Given the description of an element on the screen output the (x, y) to click on. 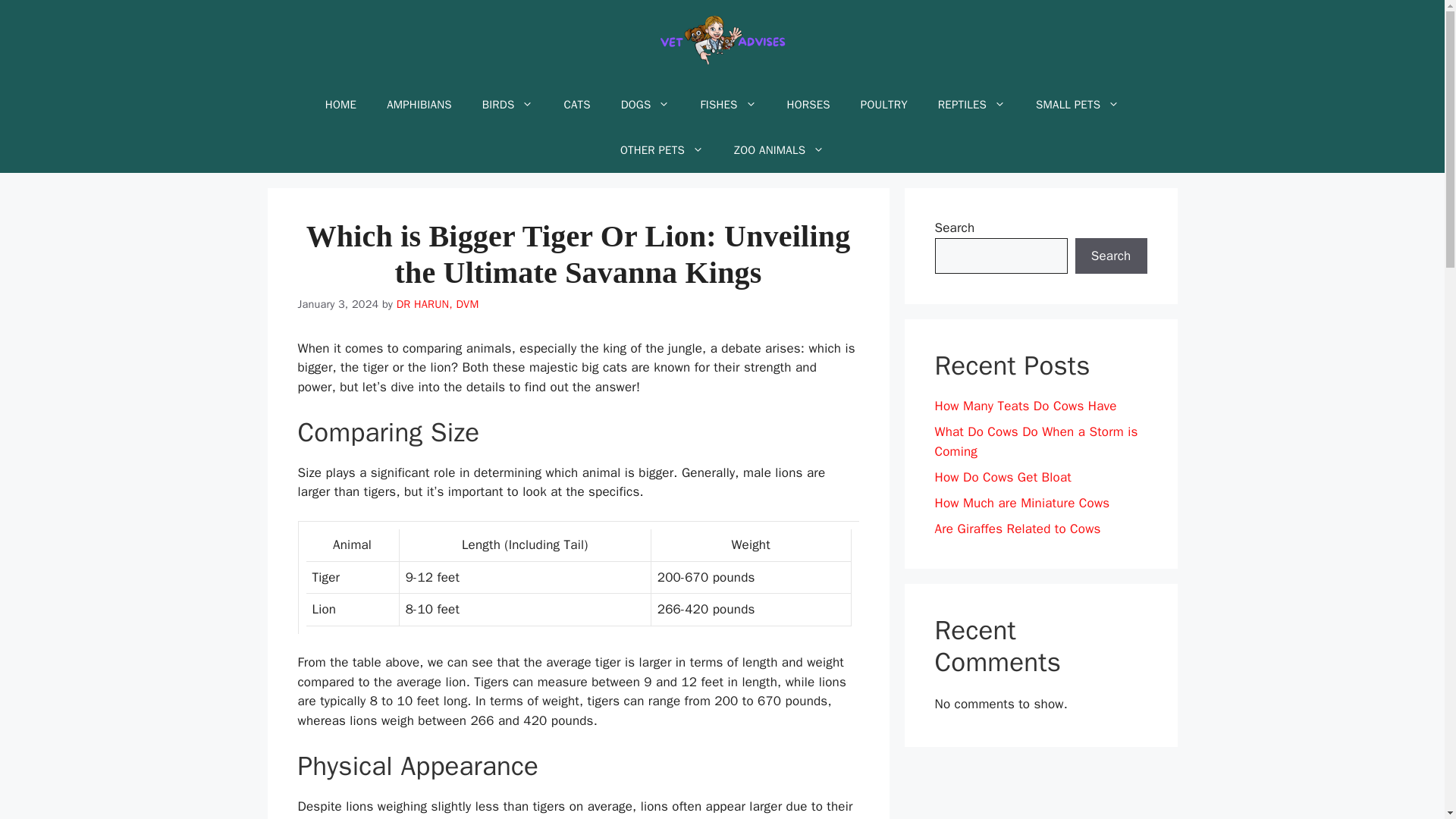
FISHES (727, 104)
DR HARUN, DVM (437, 304)
HORSES (808, 104)
BIRDS (507, 104)
HOME (340, 104)
View all posts by DR HARUN, DVM (437, 304)
CATS (576, 104)
REPTILES (971, 104)
POULTRY (884, 104)
AMPHIBIANS (419, 104)
ZOO ANIMALS (779, 149)
SMALL PETS (1077, 104)
OTHER PETS (662, 149)
DOGS (645, 104)
